Given the description of an element on the screen output the (x, y) to click on. 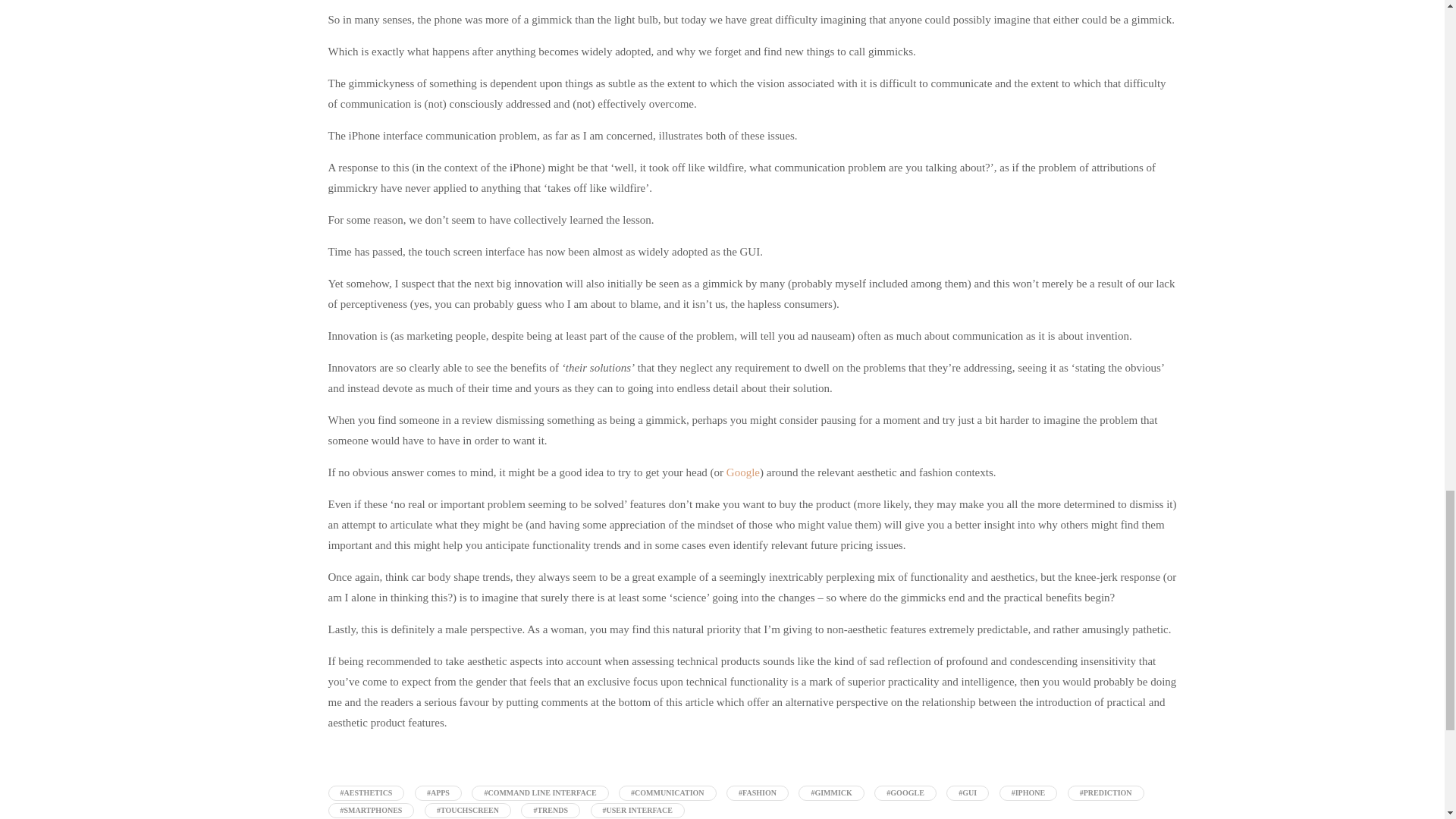
Google (743, 472)
Google (743, 472)
